Given the description of an element on the screen output the (x, y) to click on. 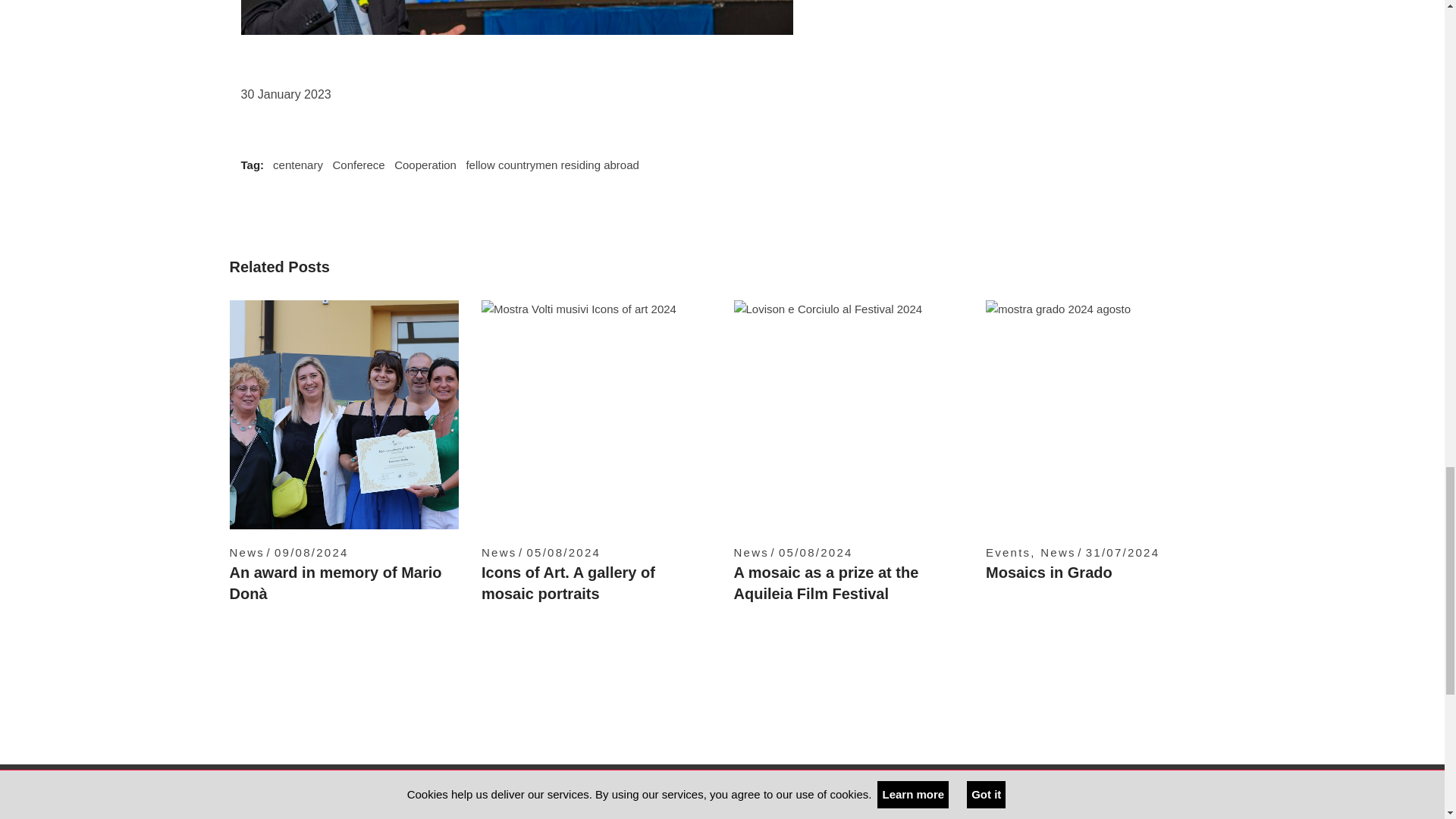
Icons of Art. A gallery of mosaic portraits (596, 414)
Icons of Art. A gallery of mosaic portraits (568, 582)
Mosaics in Grado (1048, 572)
Mosaics in Grado (1100, 414)
A mosaic as a prize at the Aquileia Film Festival (825, 582)
A mosaic as a prize at the Aquileia Film Festival (848, 414)
